Given the description of an element on the screen output the (x, y) to click on. 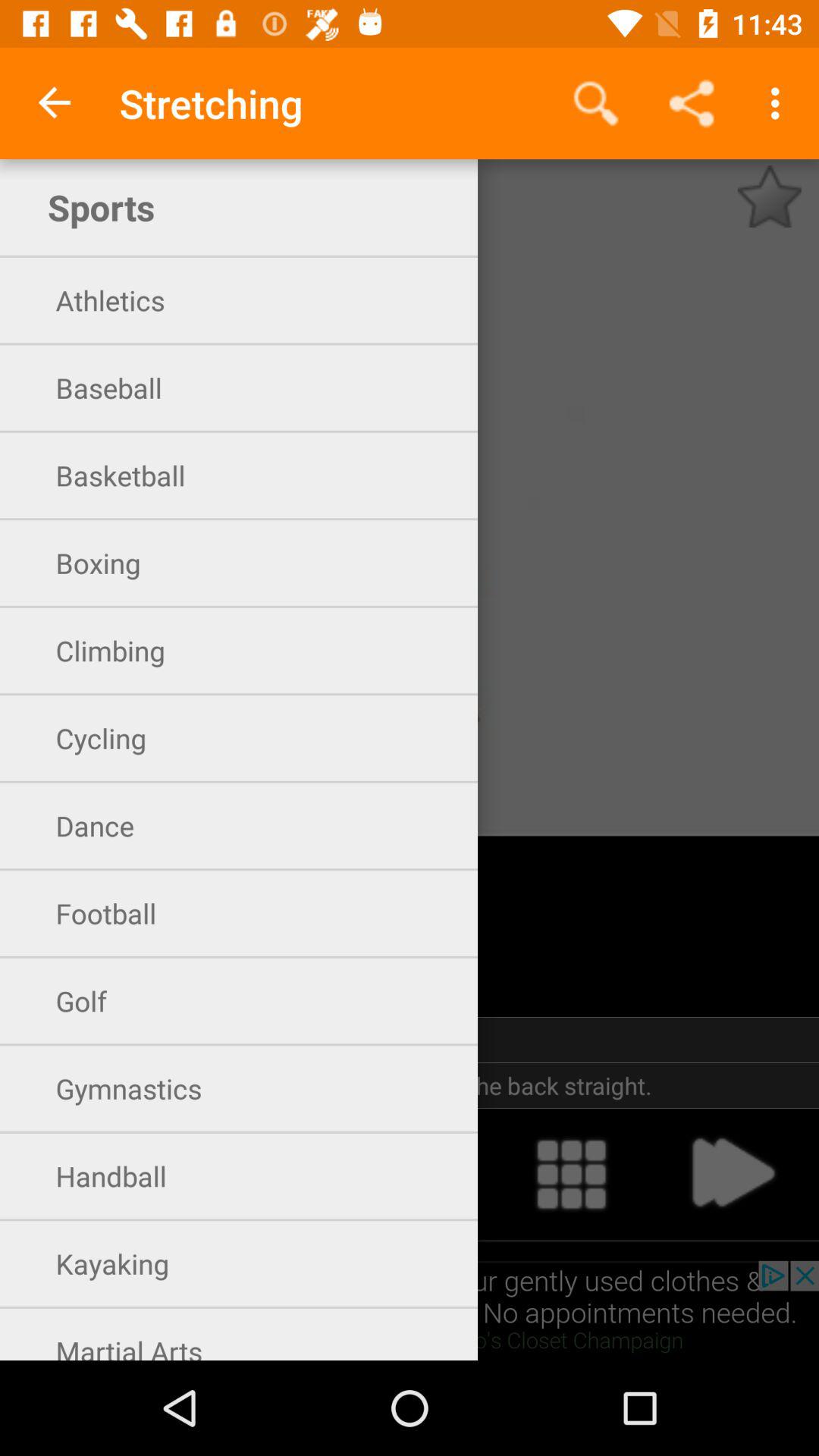
open handball exercises (86, 1174)
